Given the description of an element on the screen output the (x, y) to click on. 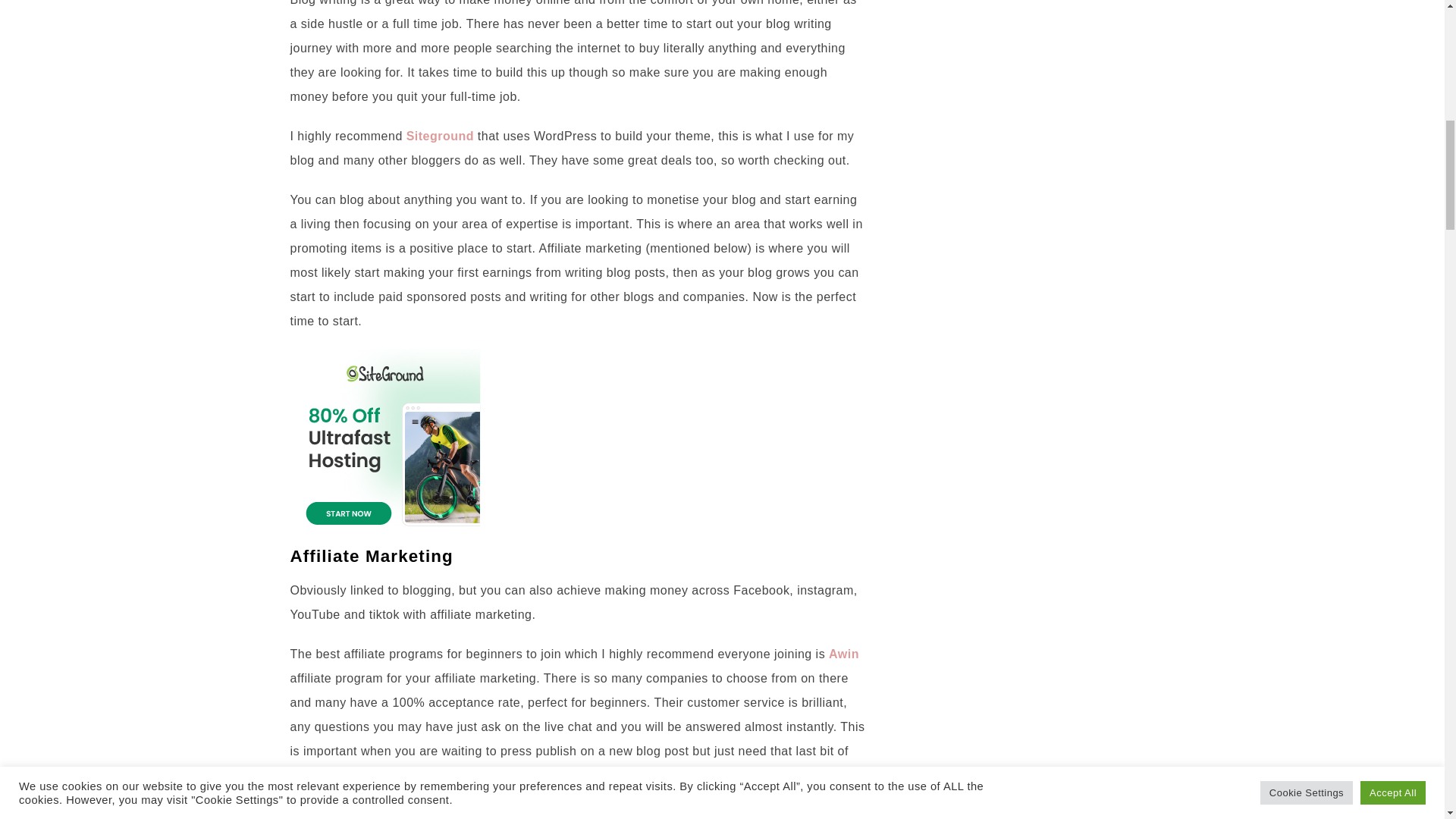
Siteground (440, 135)
Awin (843, 653)
